Given the description of an element on the screen output the (x, y) to click on. 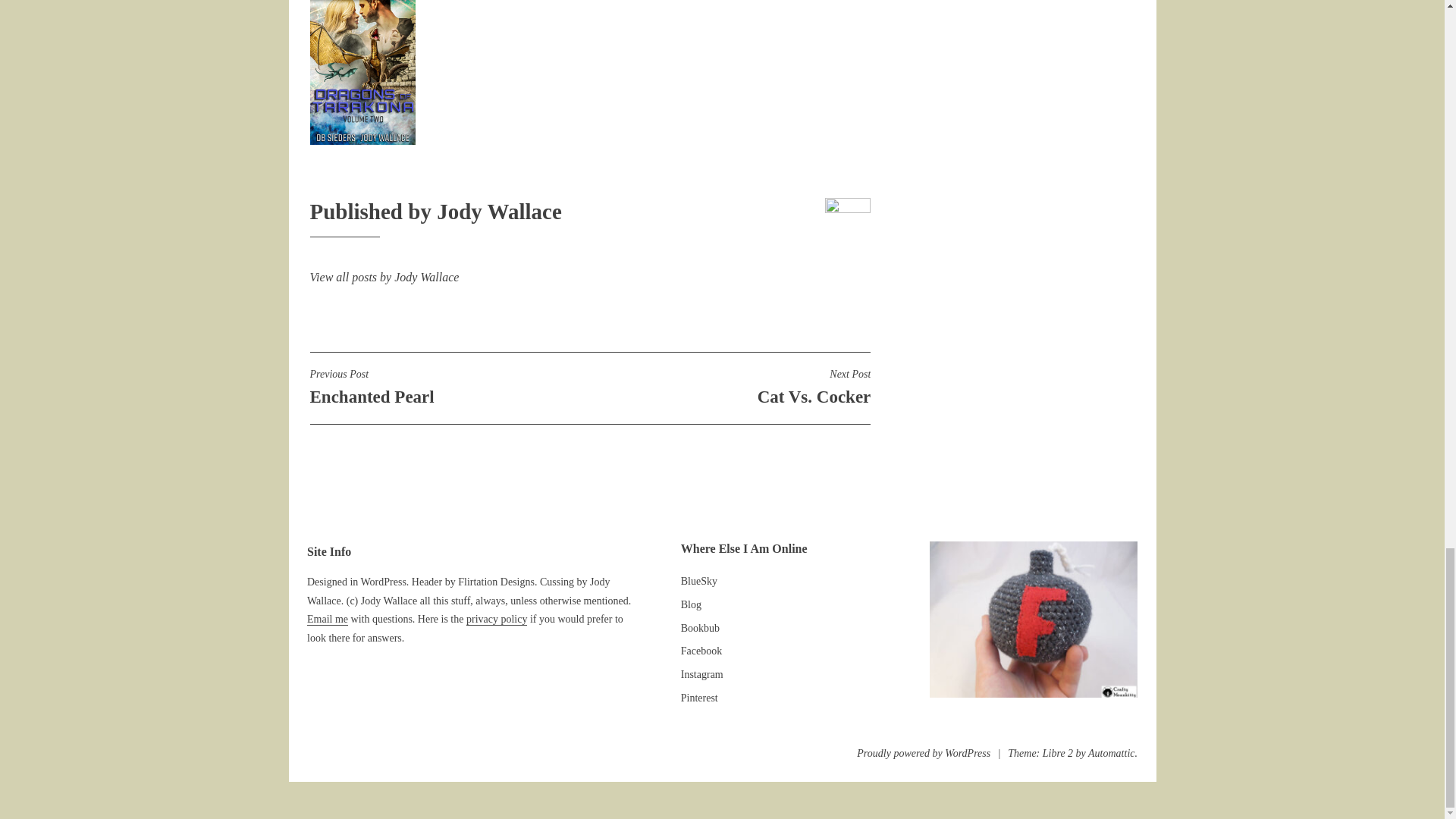
View all posts by Jody Wallace (729, 386)
